Given the description of an element on the screen output the (x, y) to click on. 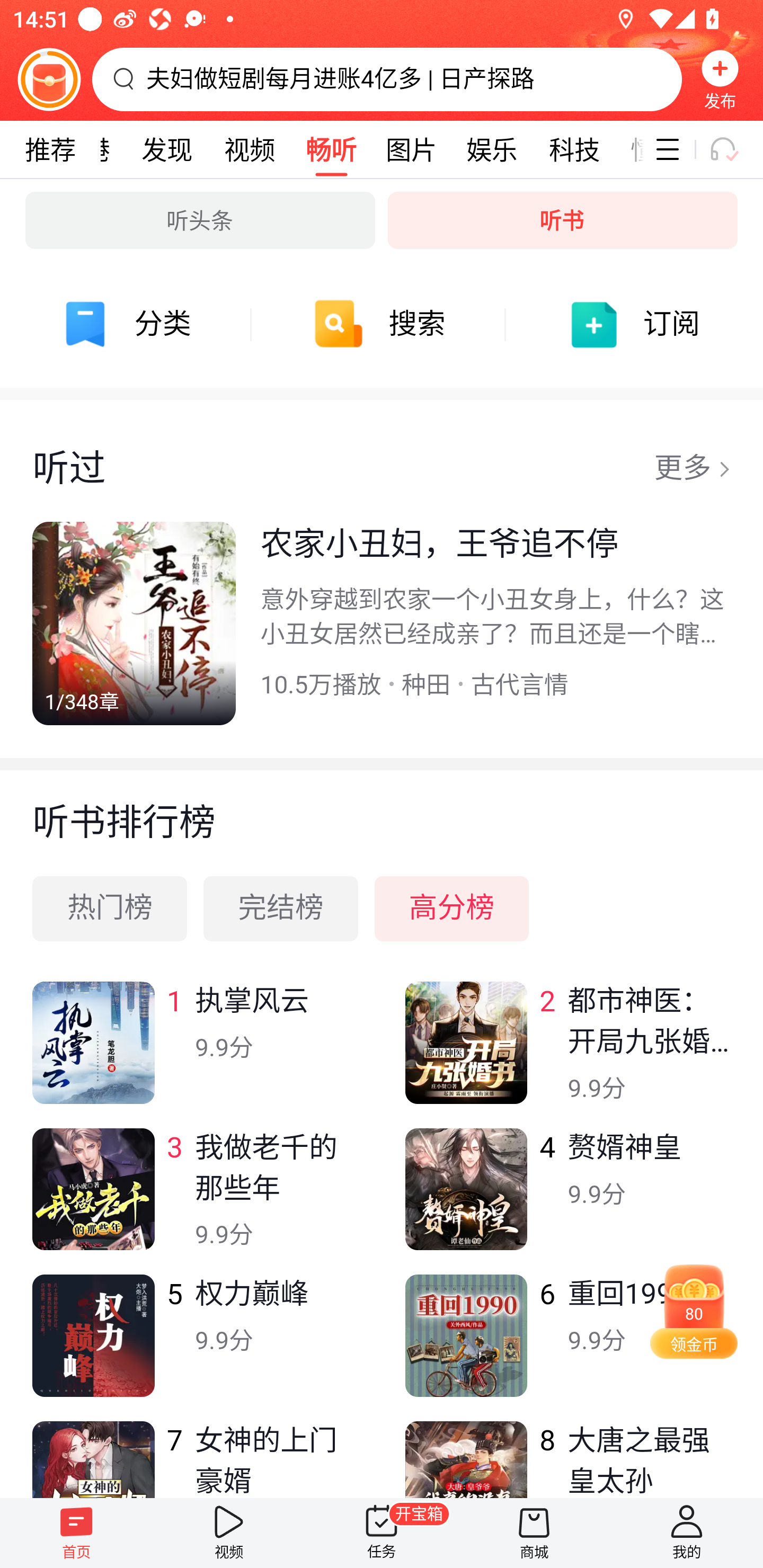
阅读赚金币 (48, 79)
夫妇做短剧每月进账4亿多 | 日产探路 搜索框，夫妇做短剧每月进账4亿多 | 日产探路 (387, 79)
发布 发布，按钮 (720, 78)
推荐 (49, 149)
发现 (166, 149)
视频 (249, 149)
畅听 (331, 149)
图片 (411, 149)
娱乐 (491, 149)
科技 (574, 149)
听一听开关 (732, 149)
听头条 (200, 220)
听书 (562, 220)
ec8ff11ac83e41d92da951de2b550623~tplv-noop 分类 (127, 324)
31232cedd33974649eb46fcb01598aba~tplv-noop 搜索 (381, 324)
4f7d5fecbd4d483872d847870da721d1~tplv-noop 订阅 (635, 324)
更多 (692, 468)
1/348章 (134, 622)
听书排行榜 (381, 806)
热门榜 (109, 908)
完结榜 (280, 908)
高分榜 (451, 908)
1 执掌风云 9.9 分 (195, 1054)
2 都市神医：开局九张婚书 9.9 分 (566, 1054)
3 我做老千的那些年 9.9 分 (195, 1201)
4 赘婿神皇 9.9 分 (566, 1201)
5 权力巅峰 9.9 分 (195, 1347)
6 重回1990 9.9 分 (566, 1347)
7 女神的上门豪婿 (195, 1458)
8 大唐之最强皇太孙 (566, 1458)
首页 (76, 1532)
视频 (228, 1532)
任务 开宝箱 (381, 1532)
商城 (533, 1532)
我的 (686, 1532)
